Given the description of an element on the screen output the (x, y) to click on. 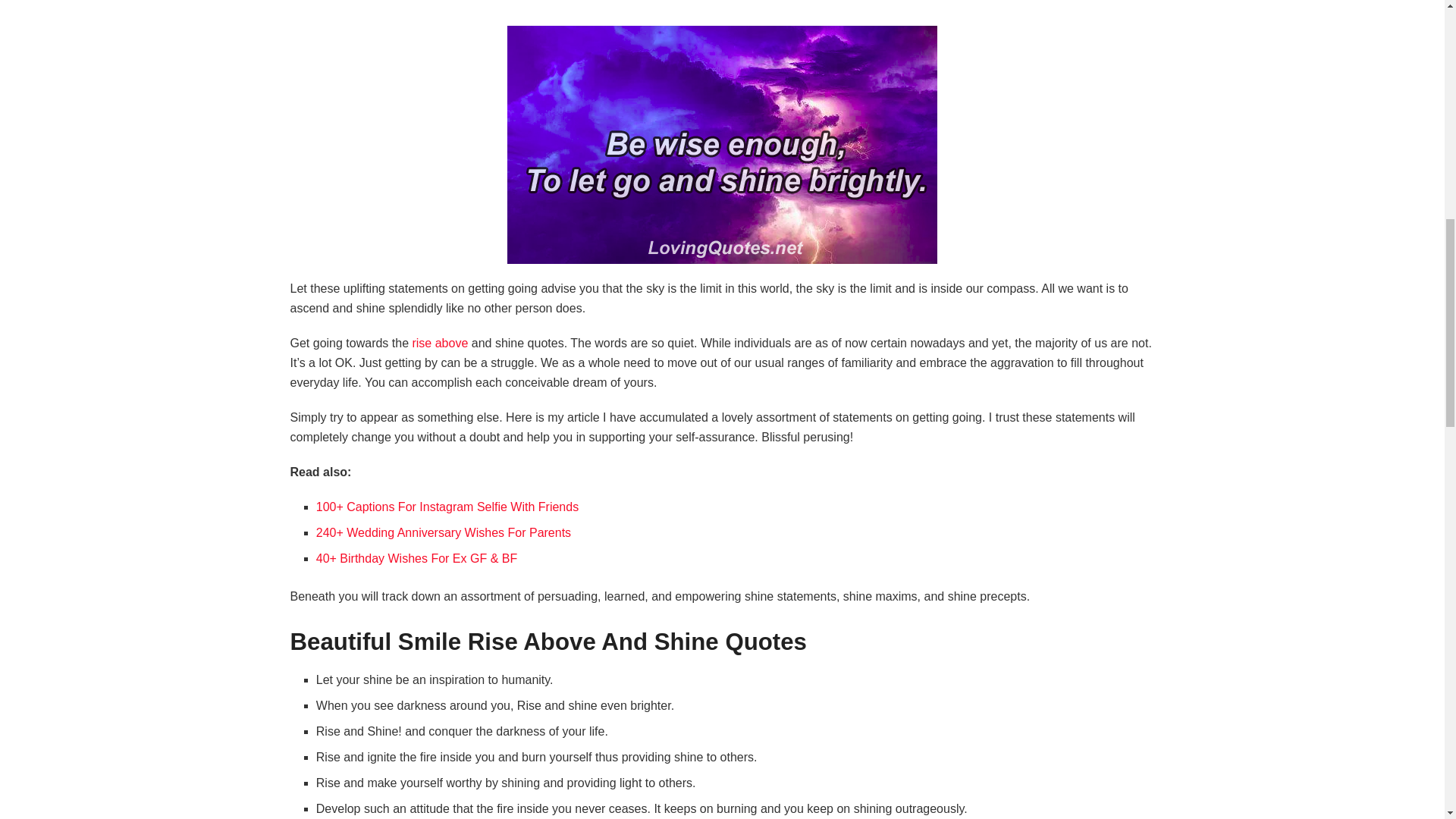
rise above (439, 342)
